Given the description of an element on the screen output the (x, y) to click on. 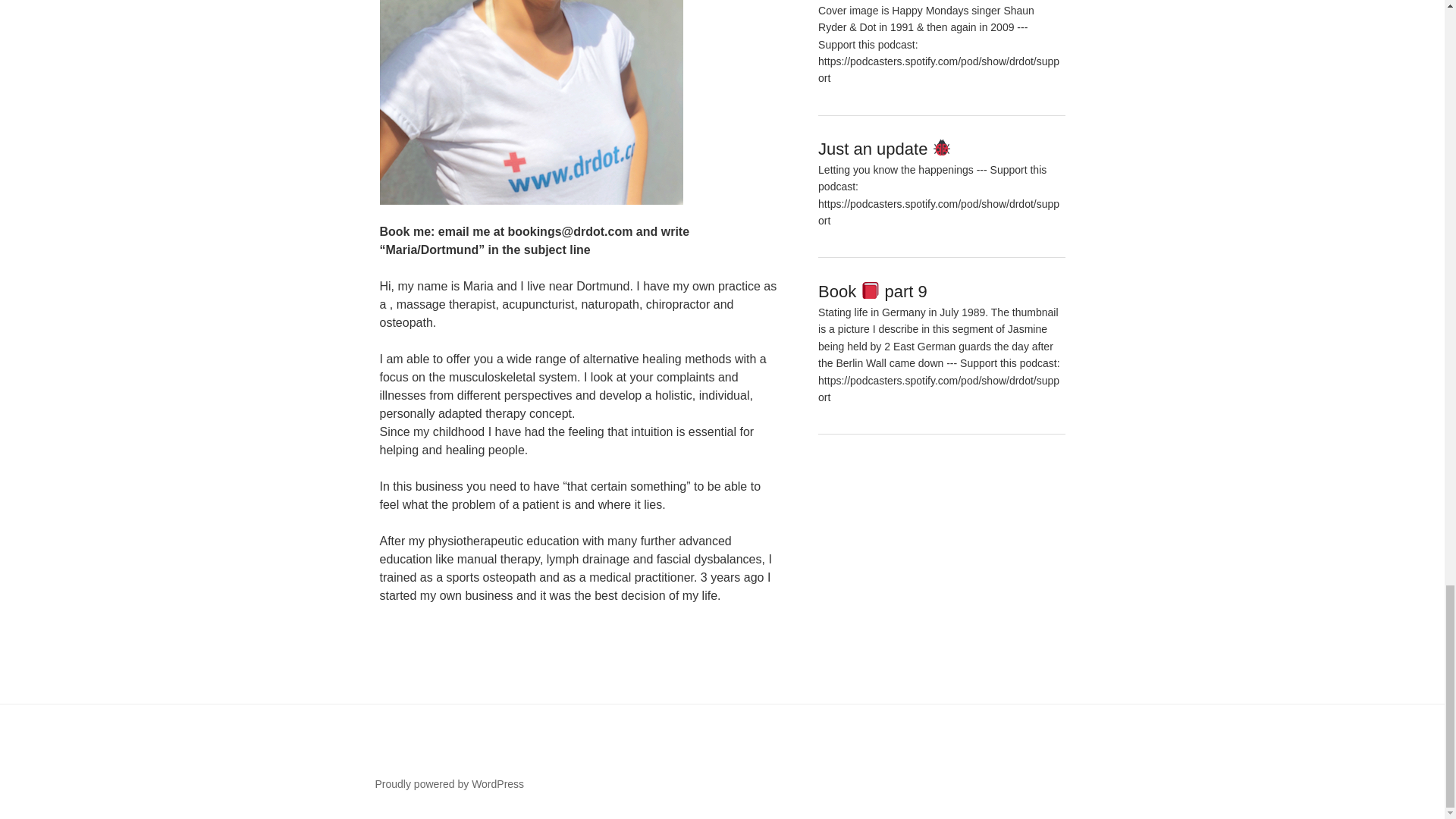
Proudly powered by WordPress (449, 784)
Just an update (885, 148)
Book part 9 (872, 291)
